Given the description of an element on the screen output the (x, y) to click on. 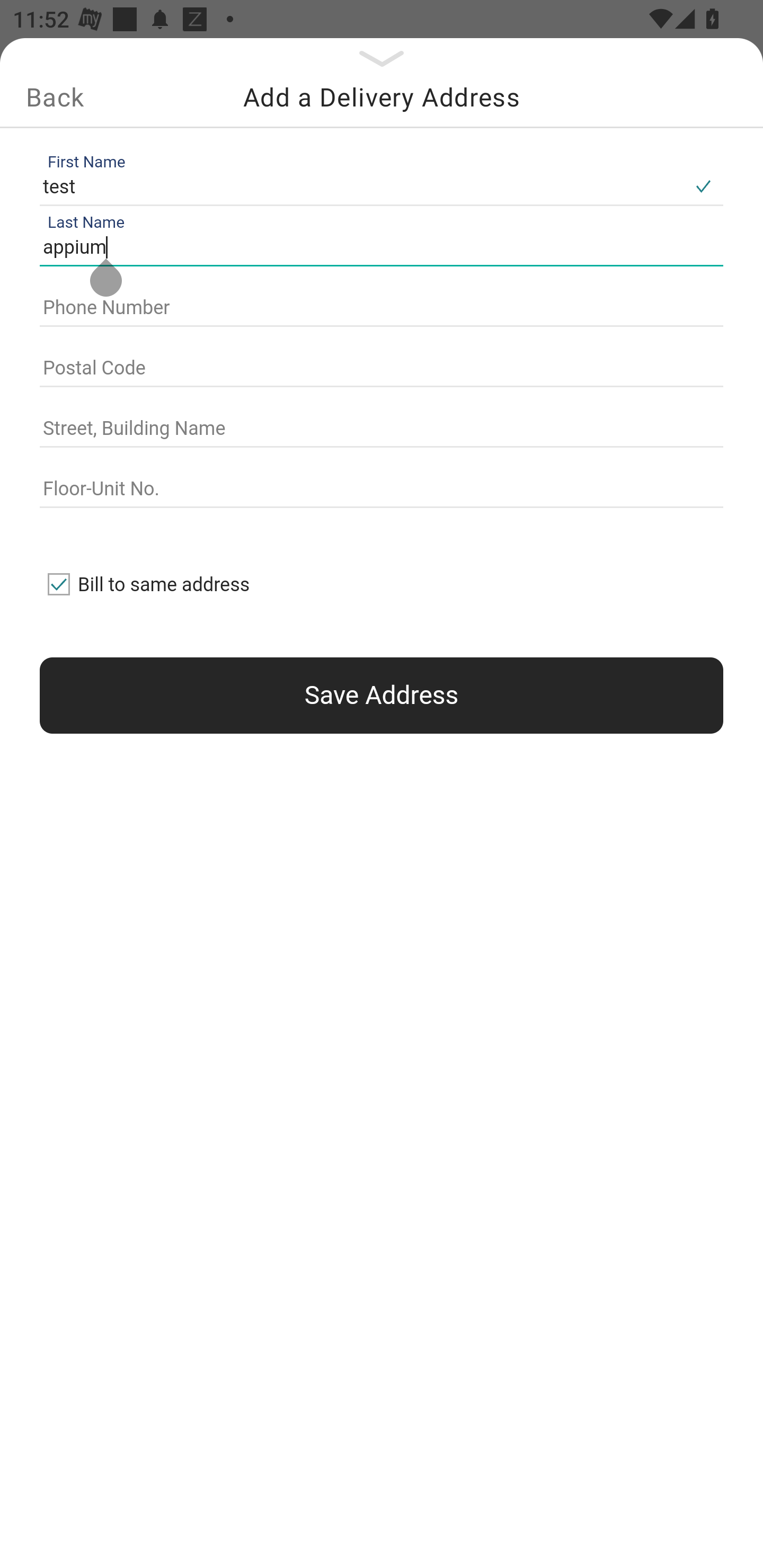
Back (54, 96)
Add a Delivery Address (381, 96)
test (361, 186)
appium (377, 247)
Save Address (381, 694)
